Given the description of an element on the screen output the (x, y) to click on. 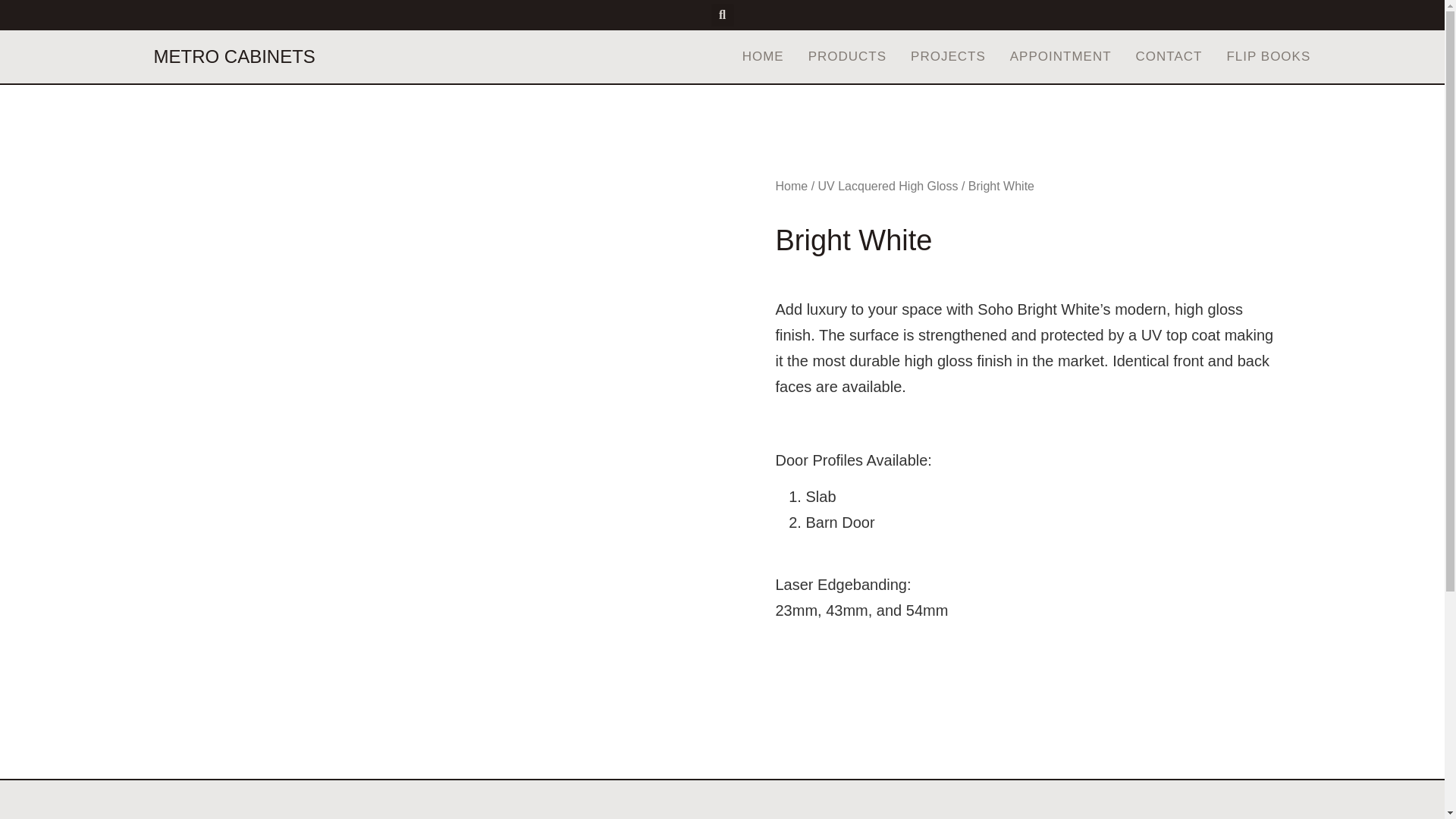
APPOINTMENT (1061, 56)
METRO CABINETS (233, 55)
FLIP BOOKS (1267, 56)
HOME (763, 56)
CONTACT (1168, 56)
PRODUCTS (847, 56)
PROJECTS (948, 56)
